Given the description of an element on the screen output the (x, y) to click on. 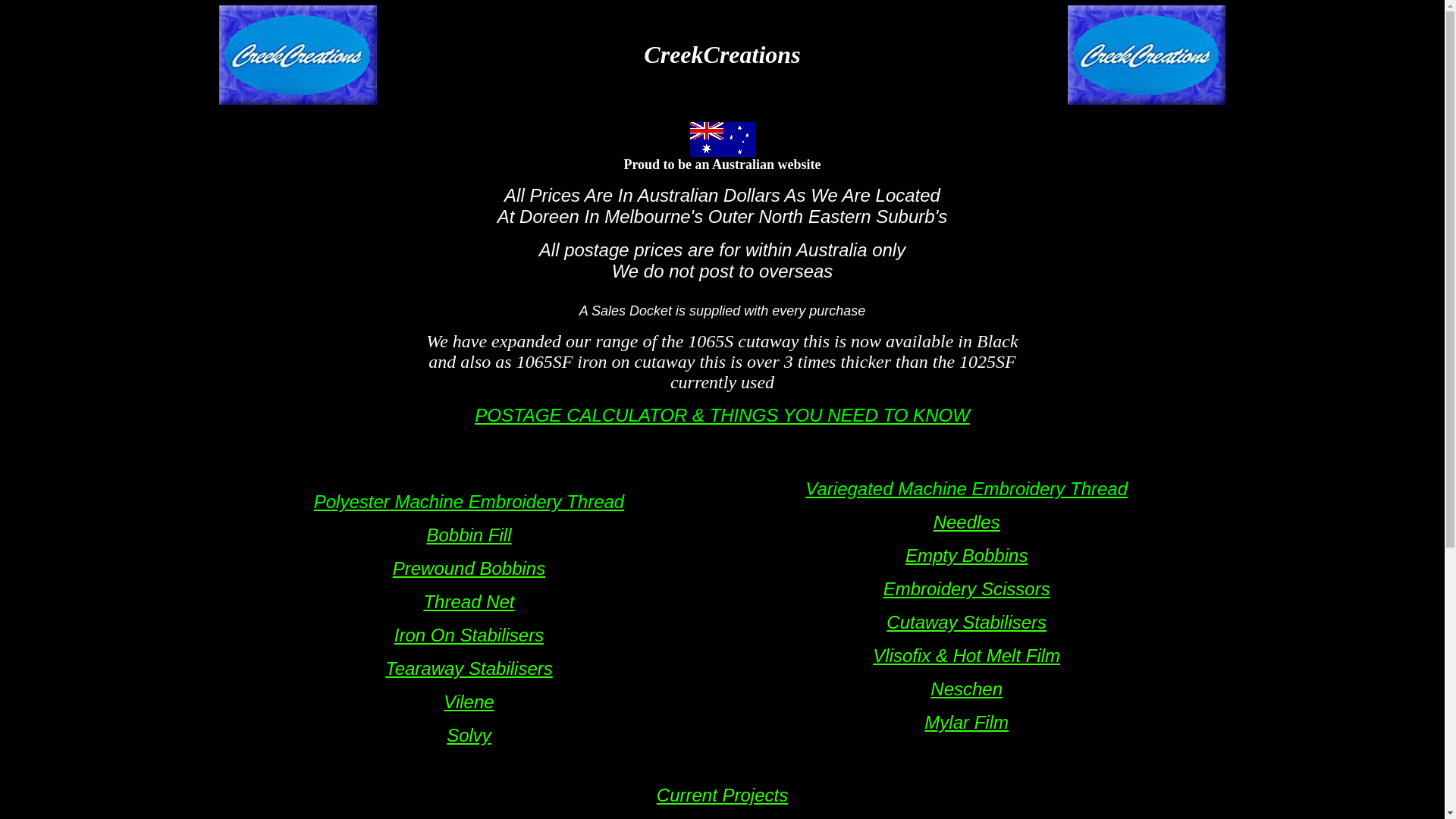
Neschen Element type: text (966, 687)
Solvy Element type: text (468, 734)
Prewound Bobbins Element type: text (468, 568)
Variegated Machine Embroidery Thread Element type: text (966, 488)
Tearaway Stabilisers Element type: text (468, 668)
Iron On Stabilisers Element type: text (468, 634)
Bobbin Fill Element type: text (468, 534)
Embroidery Scissors Element type: text (966, 587)
Vilene Element type: text (468, 701)
Vlisofix & Hot Melt Film Element type: text (966, 654)
Mylar Film Element type: text (966, 721)
Cutaway Stabilisers Element type: text (966, 621)
Polyester Machine Embroidery Thread Element type: text (468, 501)
Empty Bobbins Element type: text (966, 554)
Current Projects Element type: text (721, 794)
Thread Net Element type: text (468, 601)
POSTAGE CALCULATOR & THINGS YOU NEED TO KNOW Element type: text (721, 414)
Needles Element type: text (966, 521)
